Given the description of an element on the screen output the (x, y) to click on. 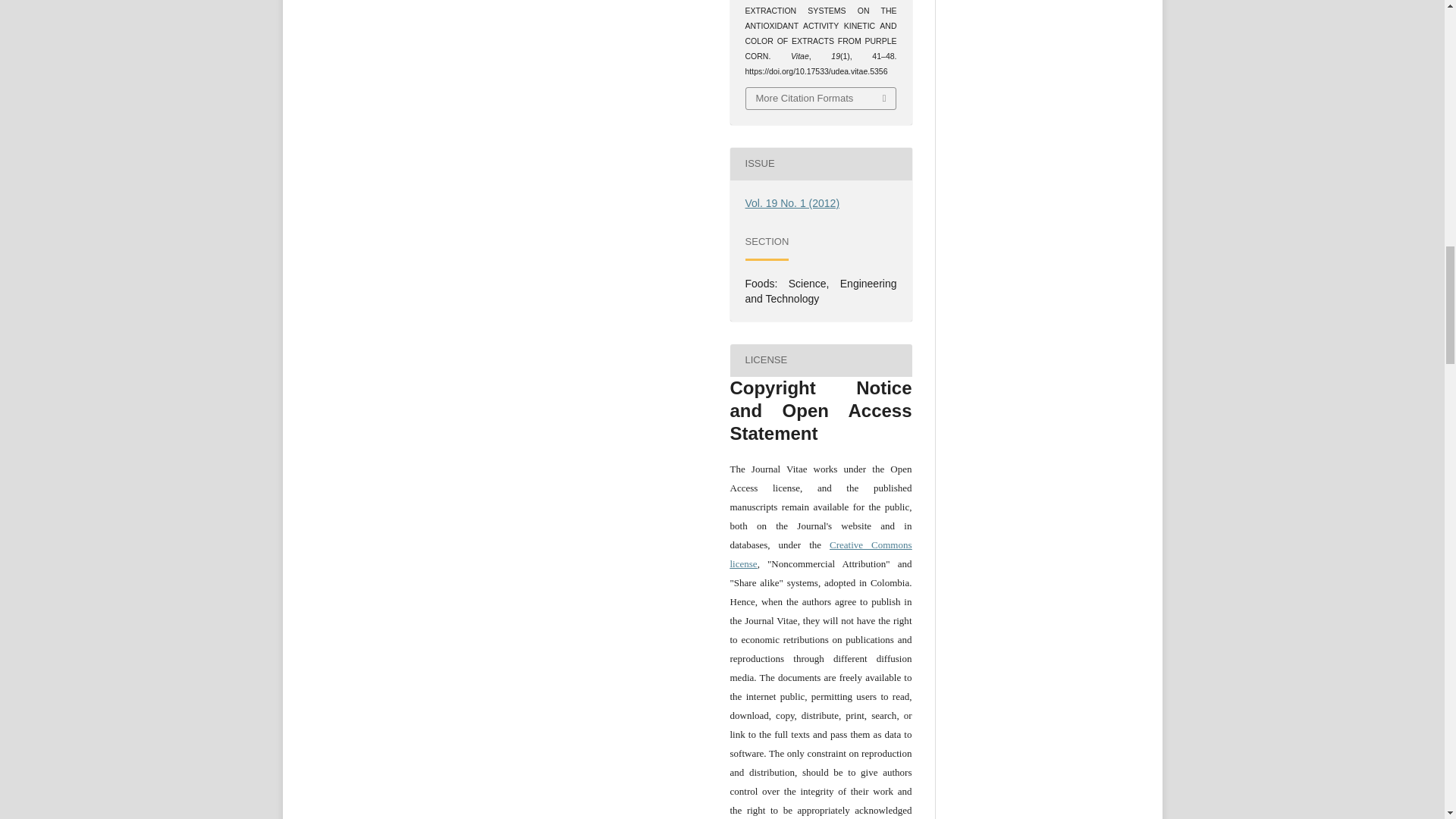
More Citation Formats (820, 97)
